Given the description of an element on the screen output the (x, y) to click on. 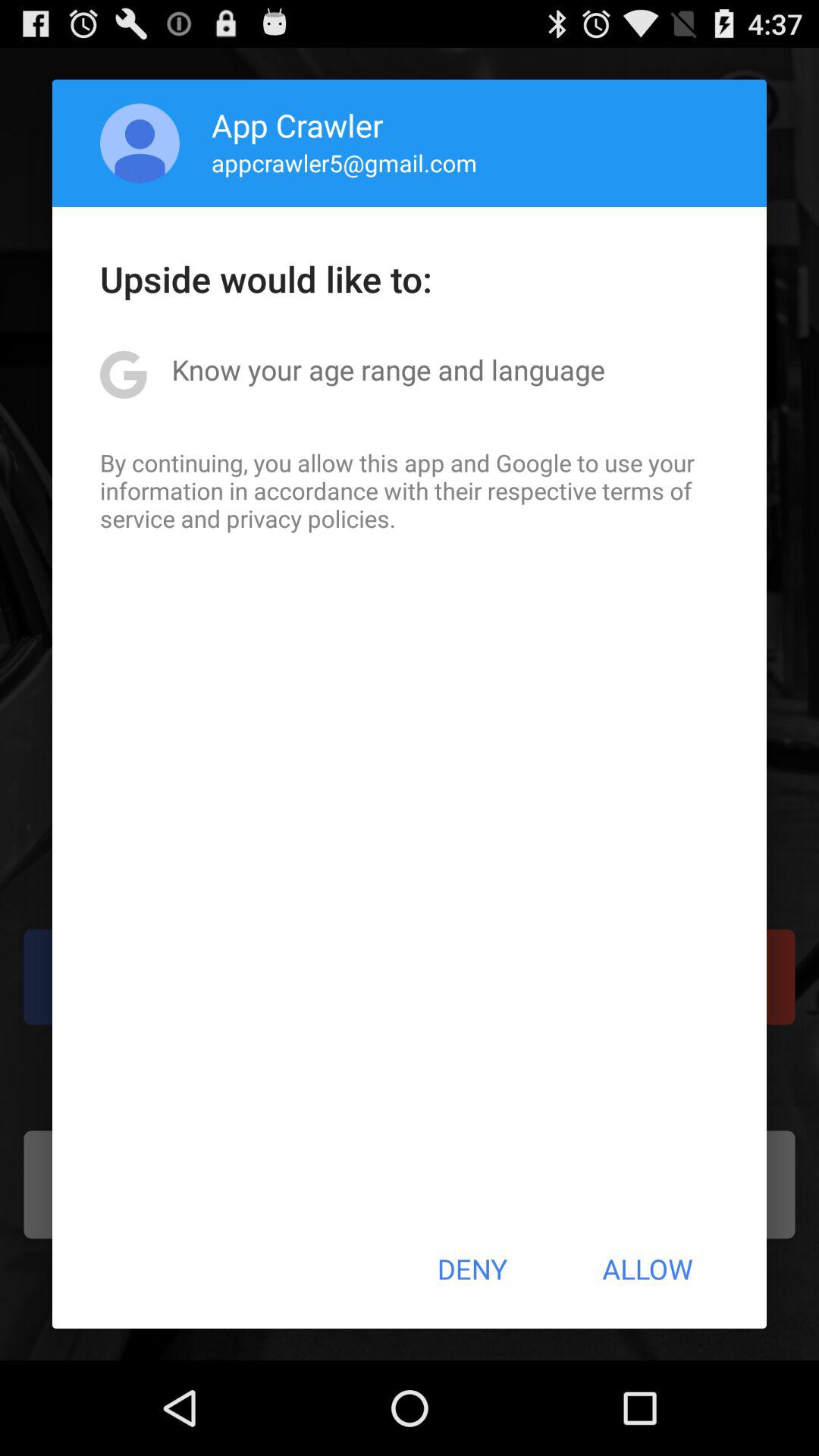
swipe until appcrawler5@gmail.com app (344, 162)
